Given the description of an element on the screen output the (x, y) to click on. 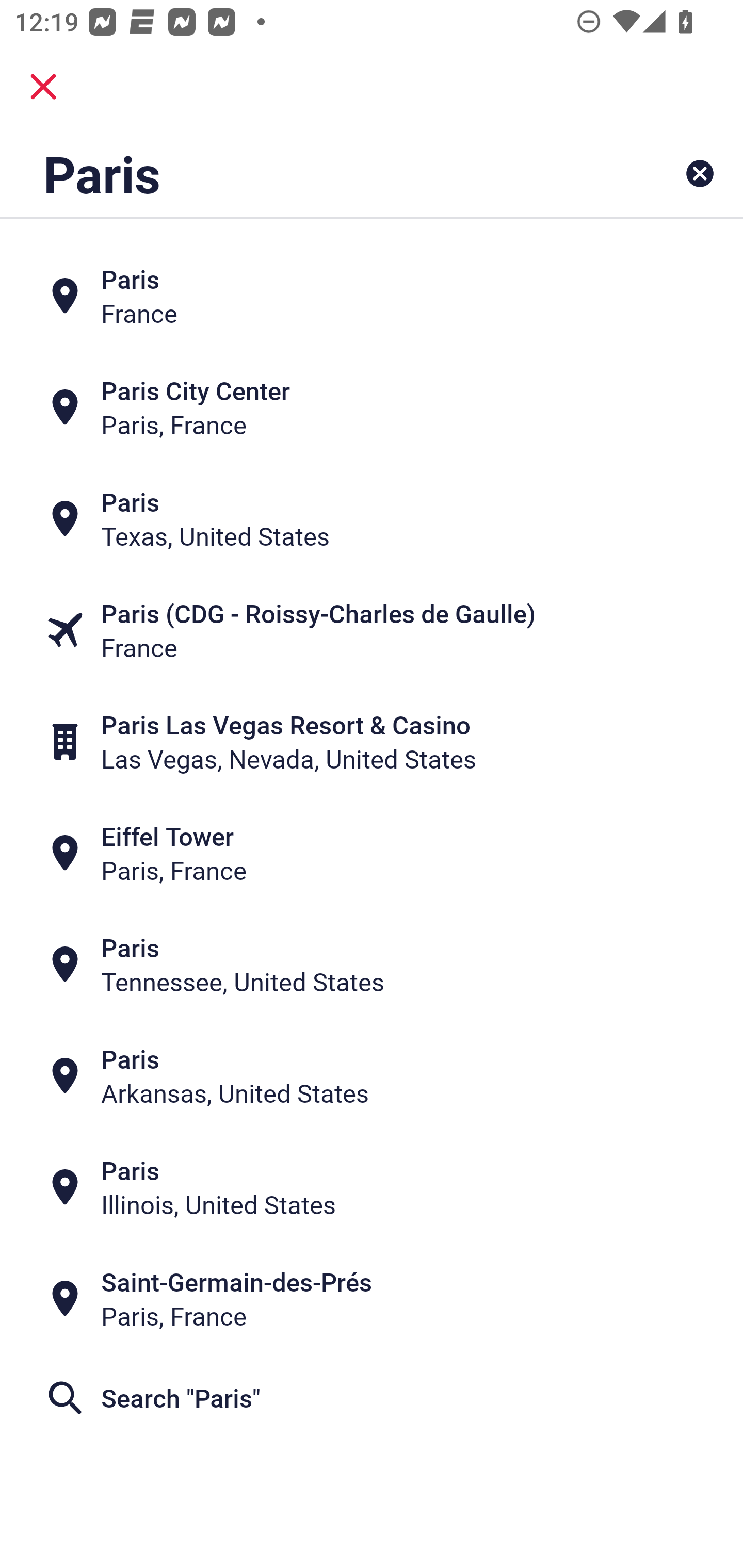
close. (43, 86)
Clear (699, 173)
Paris (306, 173)
Paris France (371, 295)
Paris City Center Paris, France (371, 406)
Paris Texas, United States (371, 517)
Paris (CDG - Roissy-Charles de Gaulle) France (371, 629)
Eiffel Tower Paris, France (371, 853)
Paris Tennessee, United States (371, 964)
Paris Arkansas, United States (371, 1076)
Paris Illinois, United States (371, 1187)
Saint-Germain-des-Prés Paris, France (371, 1298)
Search "Paris" (371, 1397)
